Given the description of an element on the screen output the (x, y) to click on. 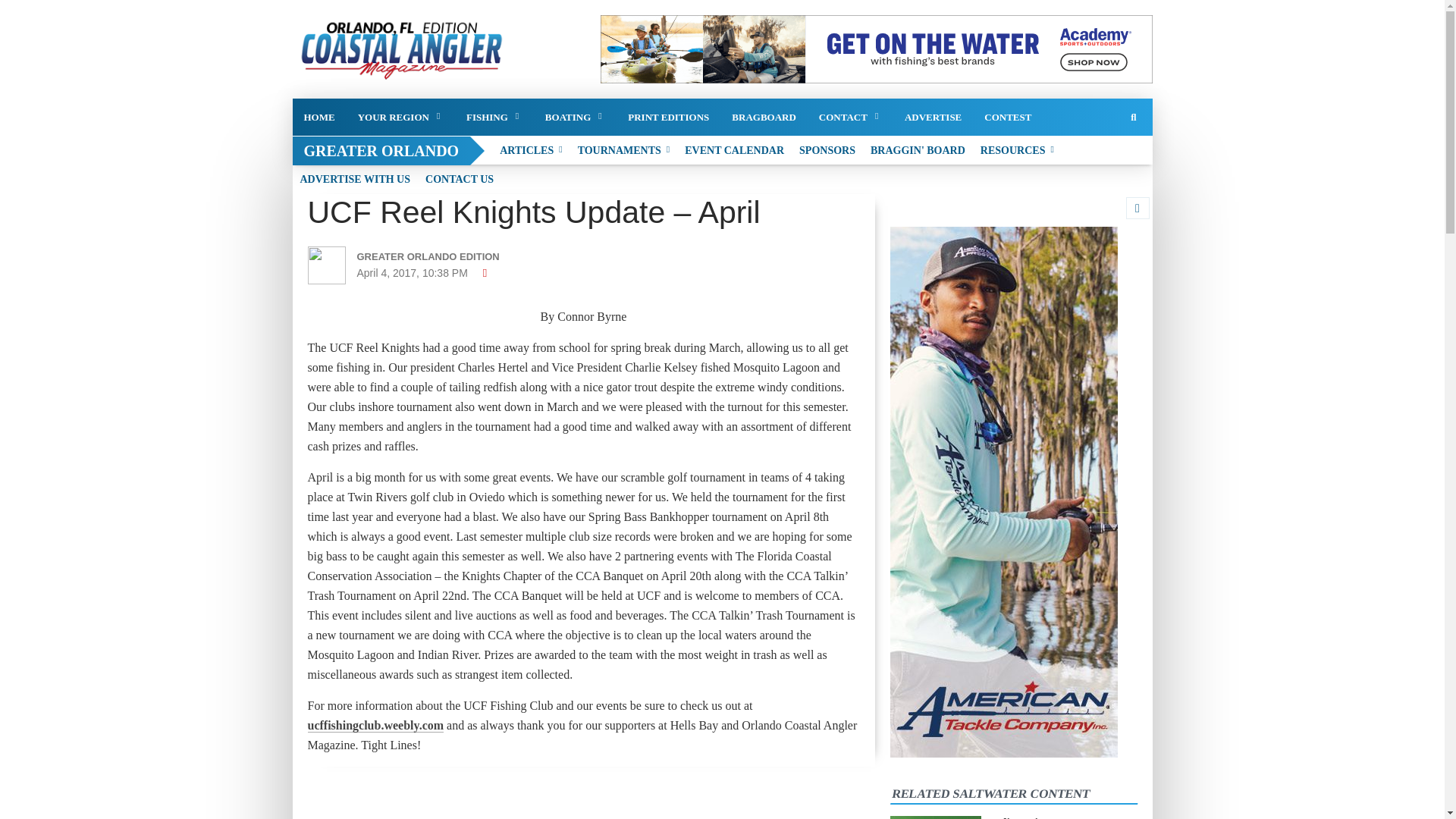
View all posts by Greater Orlando Edition (442, 256)
